Given the description of an element on the screen output the (x, y) to click on. 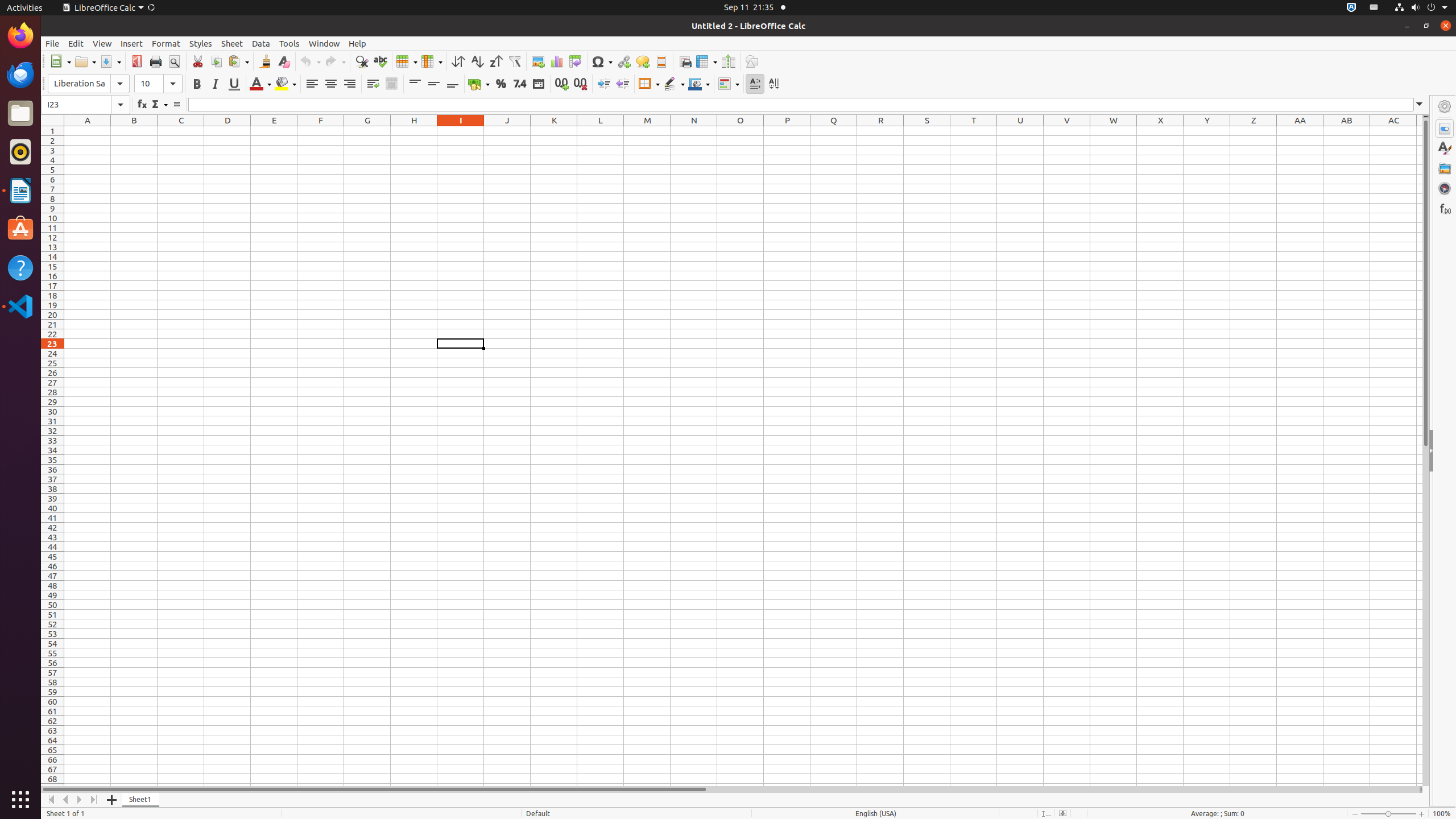
Find & Replace Element type: toggle-button (361, 61)
Font Color Element type: push-button (260, 83)
LibreOffice Calc Element type: menu (107, 7)
Select Function Element type: push-button (159, 104)
Borders (Shift to overwrite) Element type: push-button (648, 83)
